Given the description of an element on the screen output the (x, y) to click on. 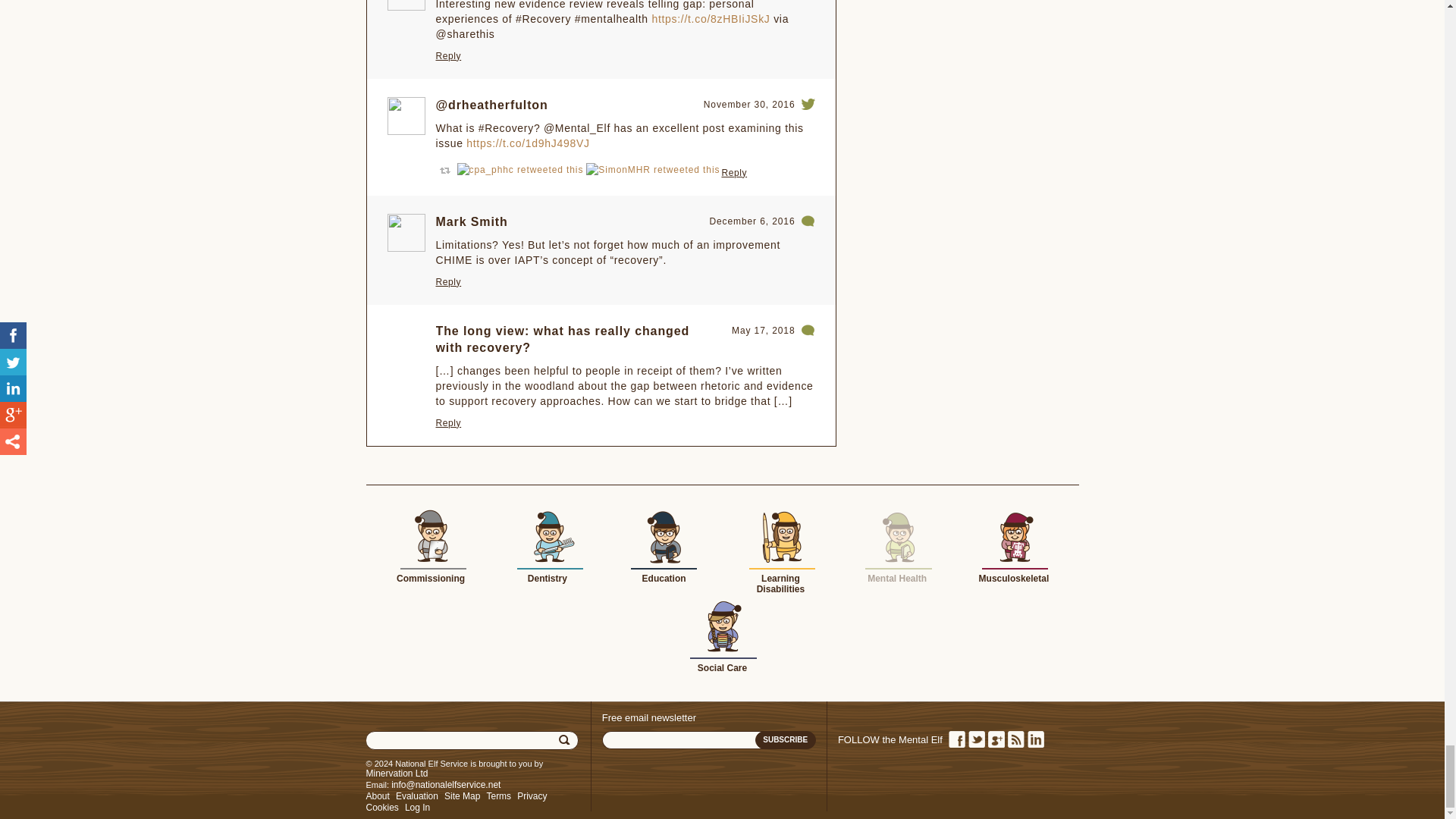
Subscribe (785, 740)
Search (565, 740)
